Given the description of an element on the screen output the (x, y) to click on. 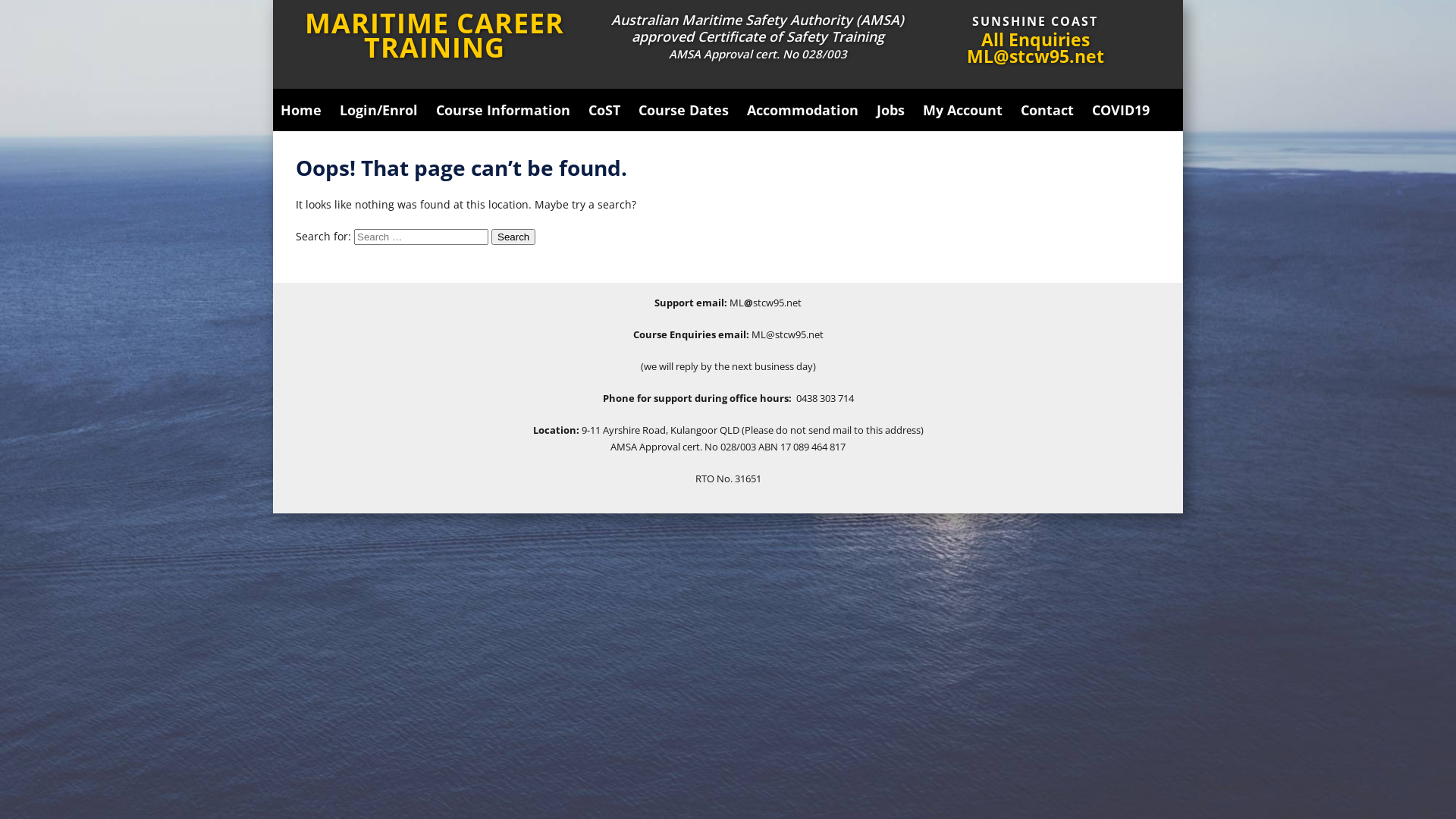
COVID19 Element type: text (1120, 109)
Accommodation Element type: text (802, 109)
Course Dates Element type: text (683, 109)
Jobs Element type: text (890, 109)
My Account Element type: text (962, 109)
Login/Enrol Element type: text (378, 109)
Home Element type: text (301, 109)
Contact Element type: text (1047, 109)
CoST Element type: text (603, 109)
Course Information Element type: text (502, 109)
Search Element type: text (513, 236)
